Given the description of an element on the screen output the (x, y) to click on. 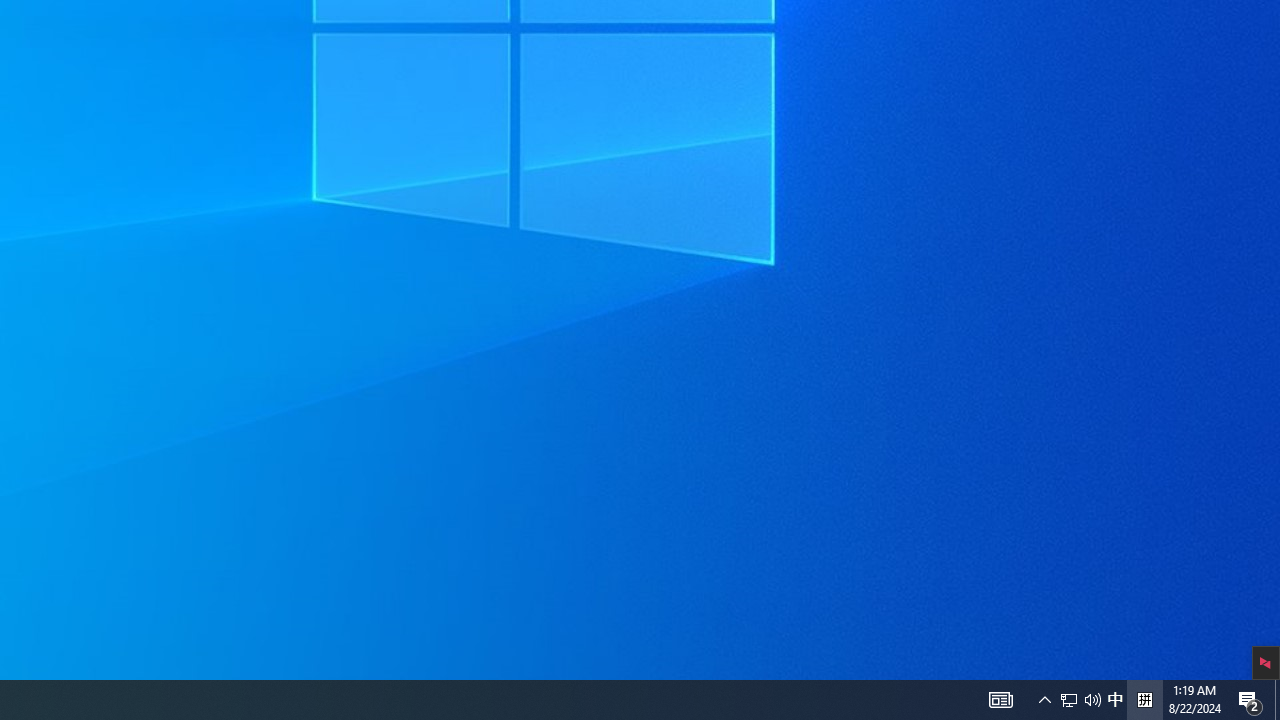
Notification Chevron (1044, 699)
Show desktop (1277, 699)
Tray Input Indicator - Chinese (Simplified, China) (1144, 699)
AutomationID: 4105 (1000, 699)
User Promoted Notification Area (1115, 699)
Q2790: 100% (1069, 699)
Action Center, 2 new notifications (1080, 699)
